Given the description of an element on the screen output the (x, y) to click on. 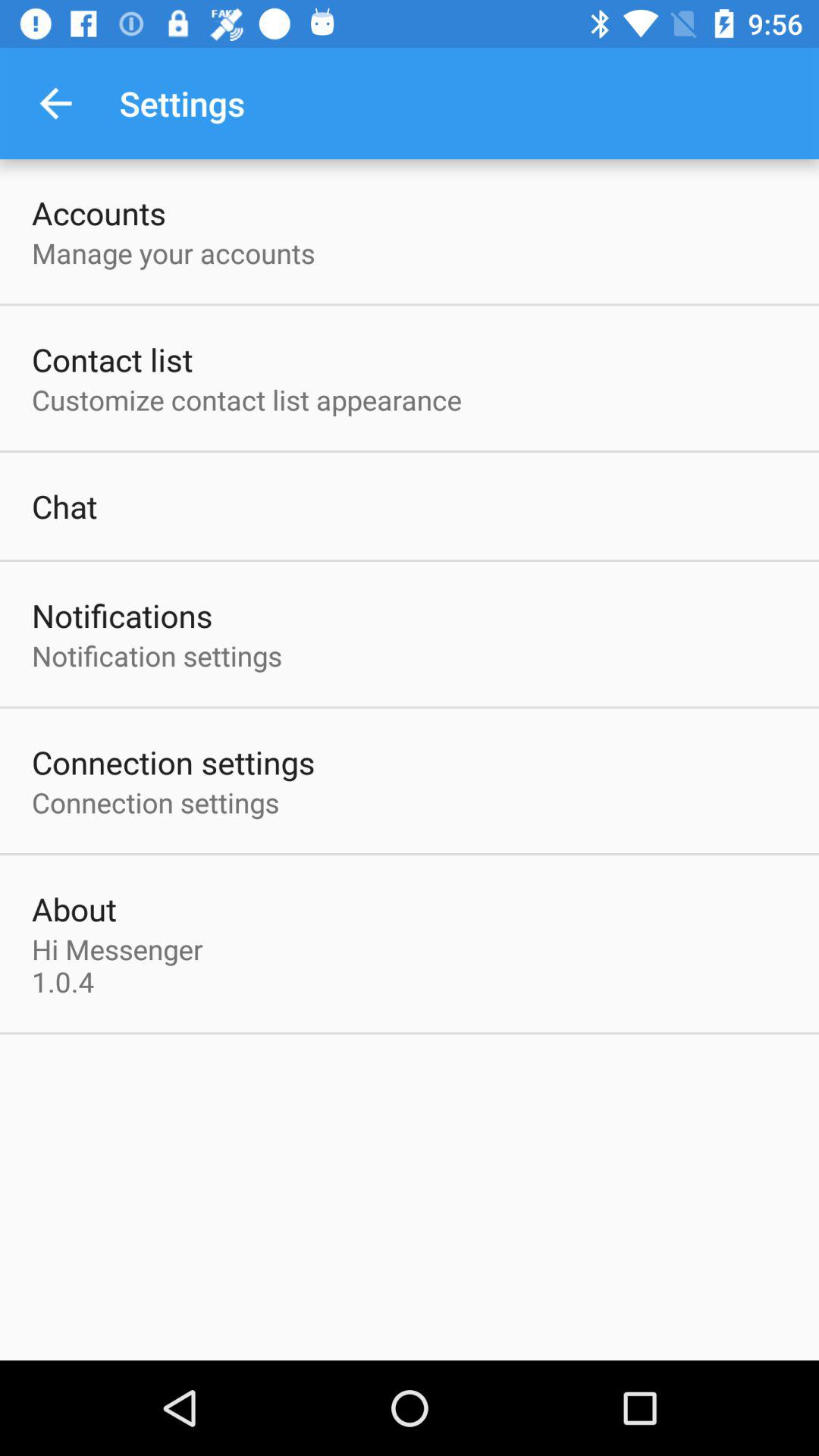
flip to the notifications (121, 615)
